Given the description of an element on the screen output the (x, y) to click on. 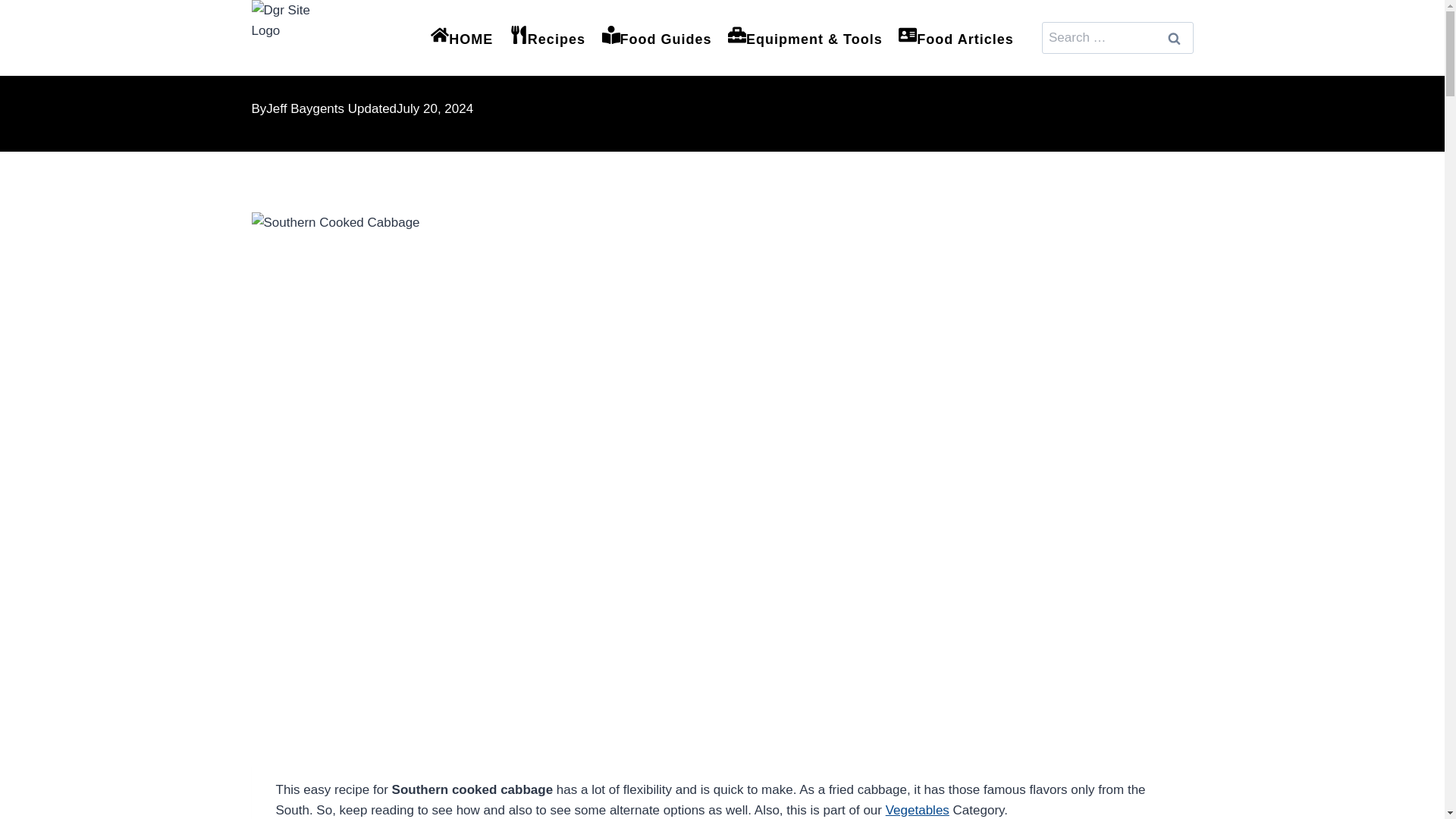
HOME (461, 37)
Home (269, 10)
Food Articles (956, 37)
Search (1174, 38)
Recipes (547, 37)
Vegetables (917, 810)
Search (1174, 38)
Search (1174, 38)
dgr site logo (289, 38)
Food Guides (657, 37)
Recipes (324, 10)
